Given the description of an element on the screen output the (x, y) to click on. 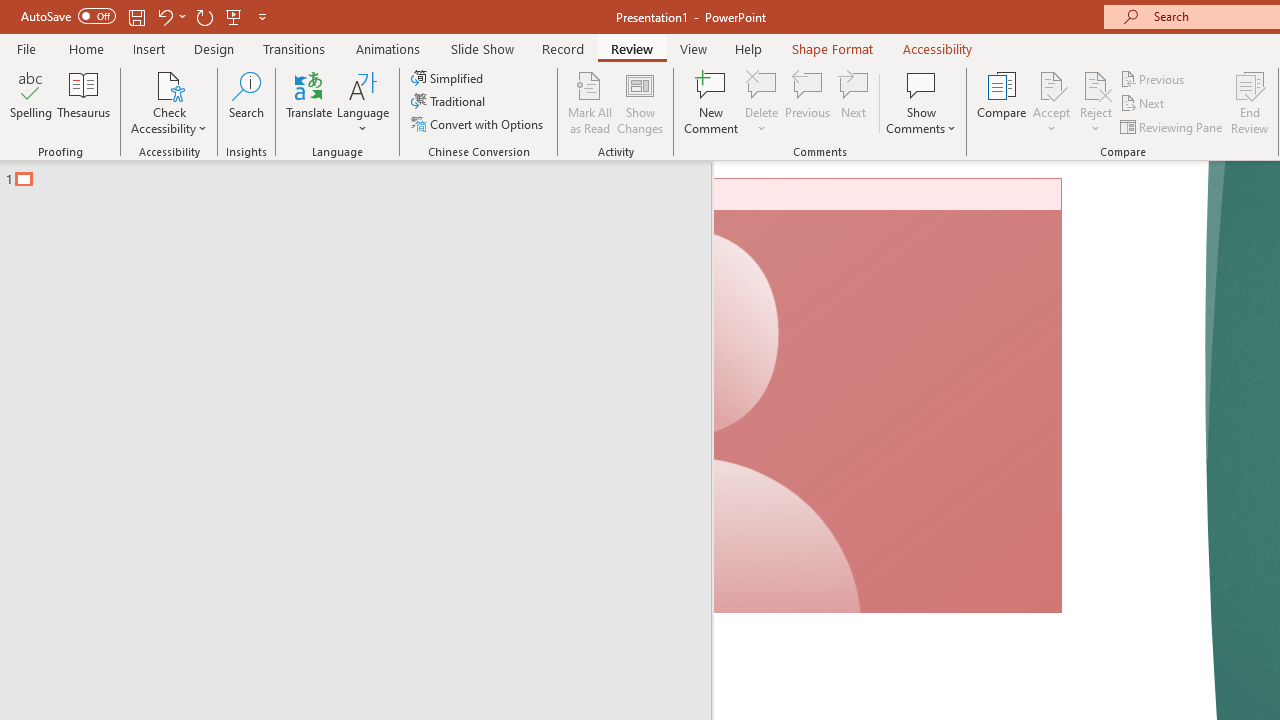
Previous (1153, 78)
Traditional (449, 101)
End Review (1249, 102)
Simplified (449, 78)
Reviewing Pane (1172, 126)
Camera 7, No camera detected. (888, 395)
